Given the description of an element on the screen output the (x, y) to click on. 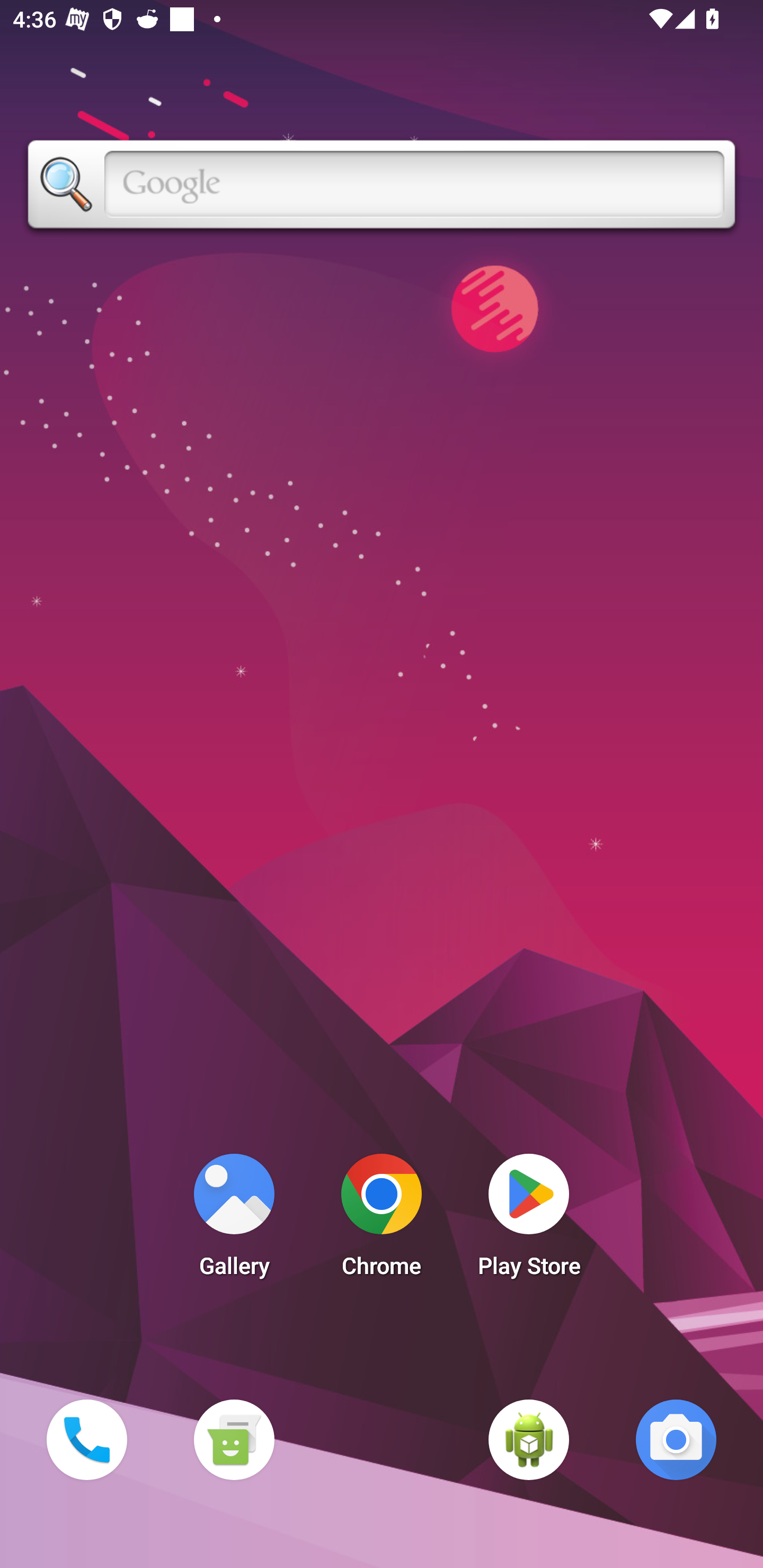
Gallery (233, 1220)
Chrome (381, 1220)
Play Store (528, 1220)
Phone (86, 1439)
Messaging (233, 1439)
WebView Browser Tester (528, 1439)
Camera (676, 1439)
